Given the description of an element on the screen output the (x, y) to click on. 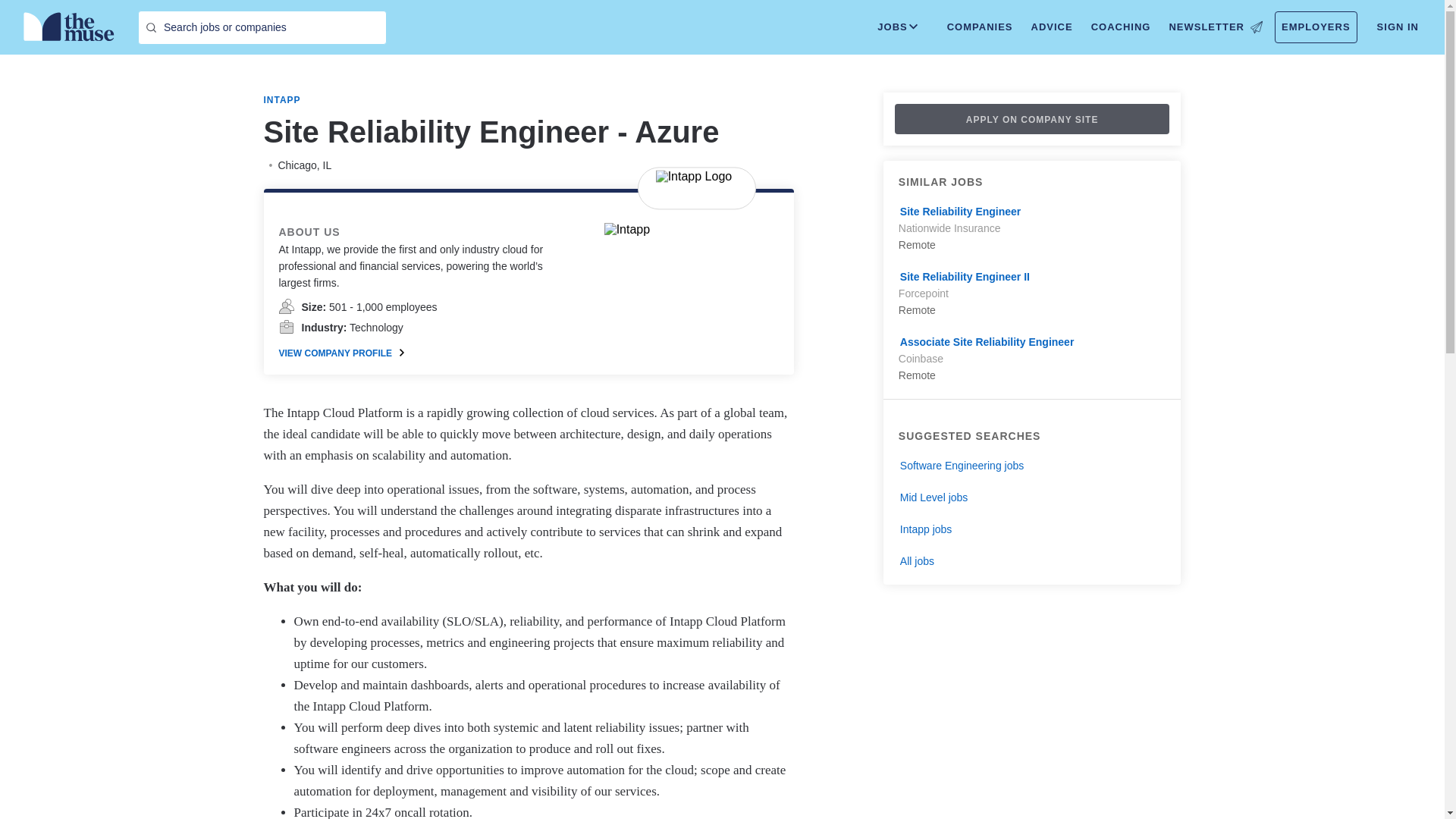
EMPLOYERS (1315, 27)
COMPANIES (979, 27)
ADVICE (1051, 27)
COACHING (1120, 27)
SIGN IN (1398, 27)
NEWSLETTER (1214, 27)
VIEW COMPANY PROFILE (341, 353)
INTAPP (282, 100)
